Given the description of an element on the screen output the (x, y) to click on. 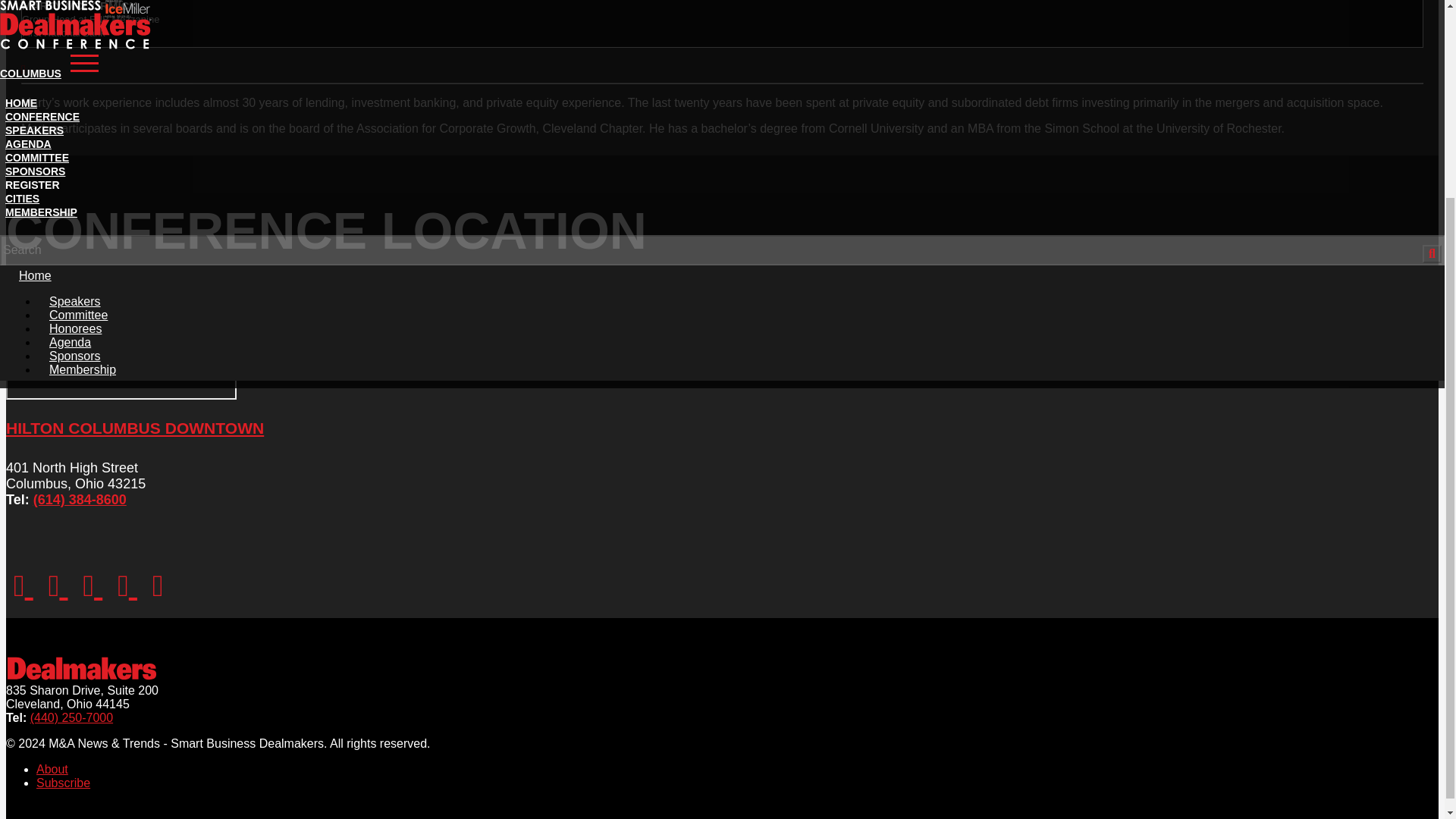
Membership (82, 115)
Agenda (69, 88)
About (52, 768)
Home (34, 21)
Speakers (74, 47)
Honorees (75, 74)
Hilton Columbus Downtown (120, 340)
Sponsors (74, 101)
Committee (78, 60)
Subscribe (63, 782)
